Given the description of an element on the screen output the (x, y) to click on. 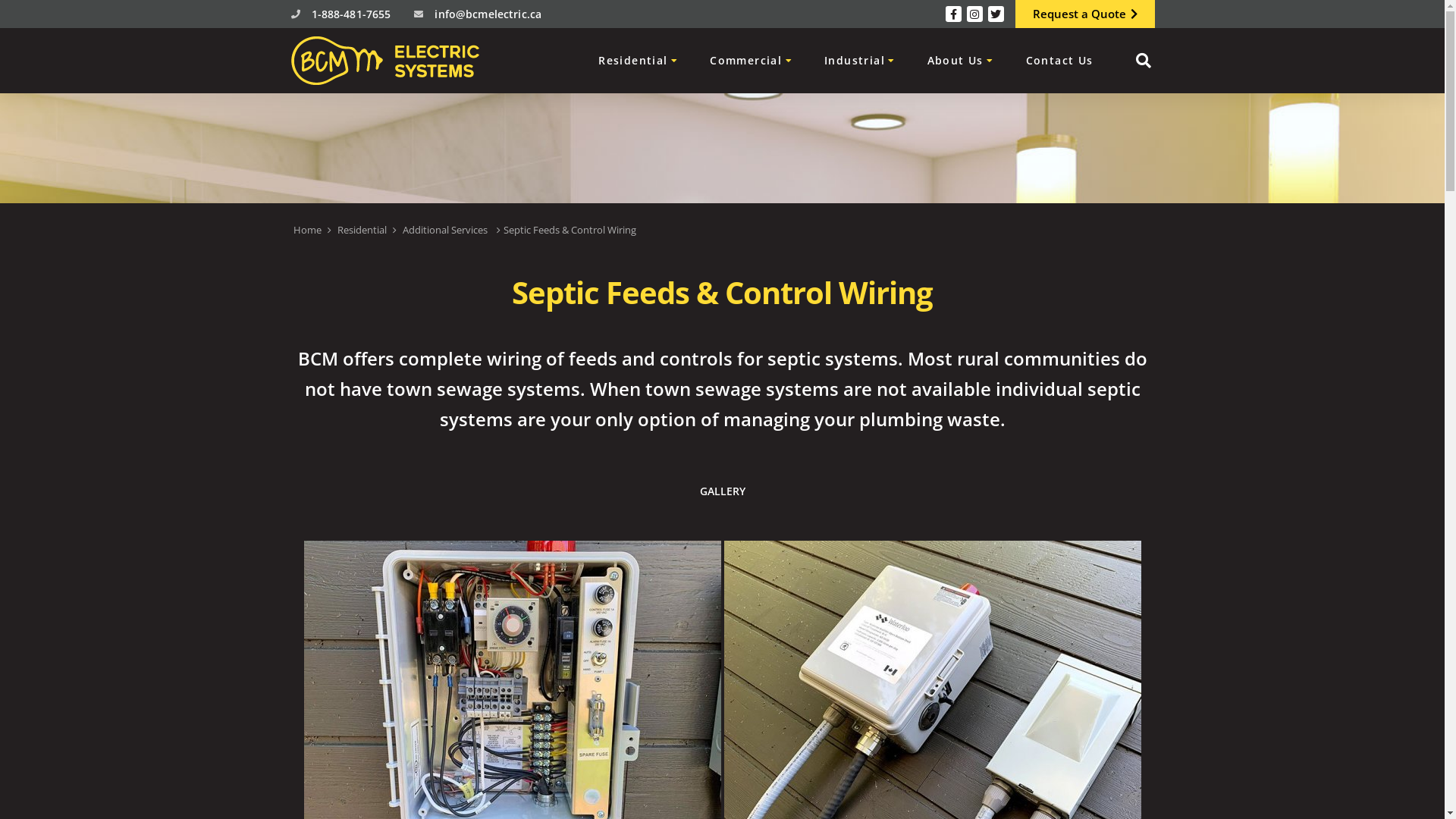
1-888-481-7655 Element type: text (350, 13)
Contact Us Element type: text (1058, 60)
Industrial Element type: text (859, 60)
Request a Quote Element type: text (1084, 14)
Home Element type: text (306, 229)
Residential Element type: text (361, 229)
Commercial Element type: text (750, 60)
info@bcmelectric.ca Element type: text (487, 13)
Additional Services Element type: text (443, 229)
Residential Element type: text (637, 60)
About Us Element type: text (960, 60)
